Given the description of an element on the screen output the (x, y) to click on. 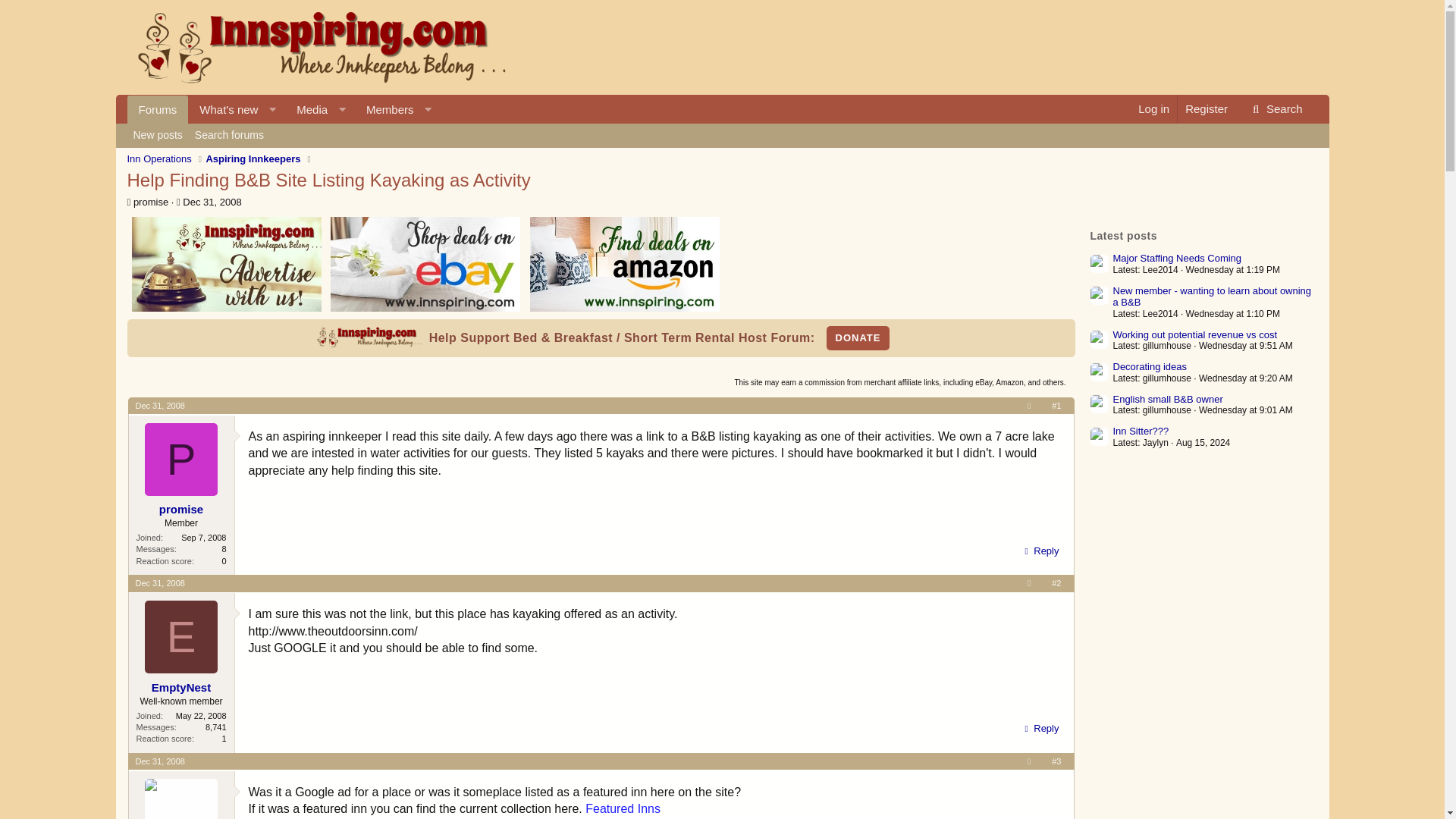
Donate (858, 337)
Reply, quoting this message (1039, 728)
Search (1275, 109)
Dec 31, 2008 at 12:32 PM (159, 583)
New posts (158, 135)
Members (384, 109)
Dec 31, 2008 at 12:23 PM (159, 405)
Dec 31, 2008 at 12:23 PM (212, 202)
PayPal - The safer, easier way to pay online! (722, 135)
